Given the description of an element on the screen output the (x, y) to click on. 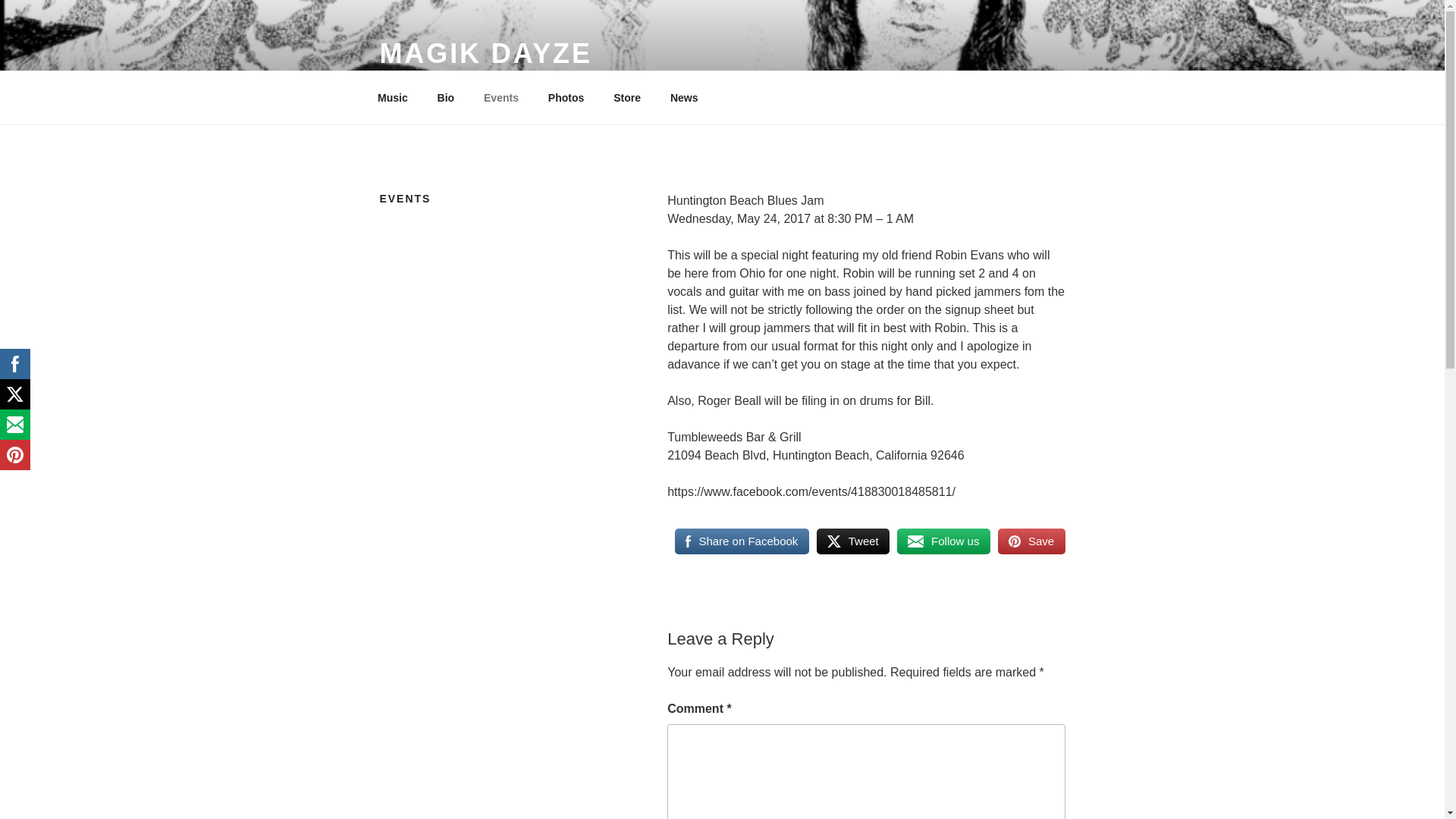
Bio (445, 97)
Share on Facebook (741, 541)
Photos (565, 97)
MAGIK DAYZE (484, 52)
News (683, 97)
Follow us (943, 541)
Save (1031, 541)
Tweet (852, 541)
Events (501, 97)
Music (392, 97)
